Given the description of an element on the screen output the (x, y) to click on. 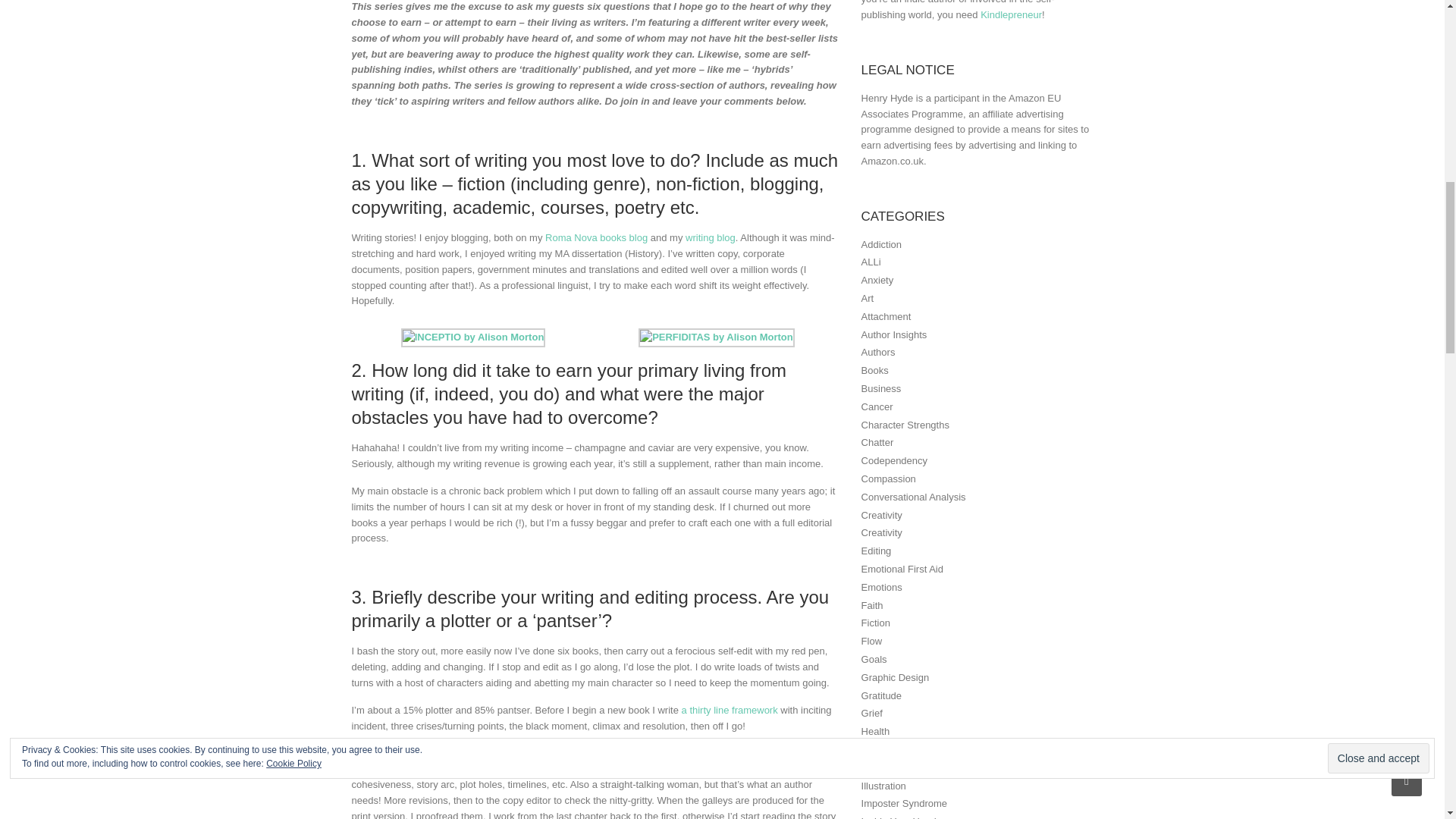
Roma Nova books blog (595, 237)
a thirty line framework (729, 709)
writing blog (710, 237)
